Given the description of an element on the screen output the (x, y) to click on. 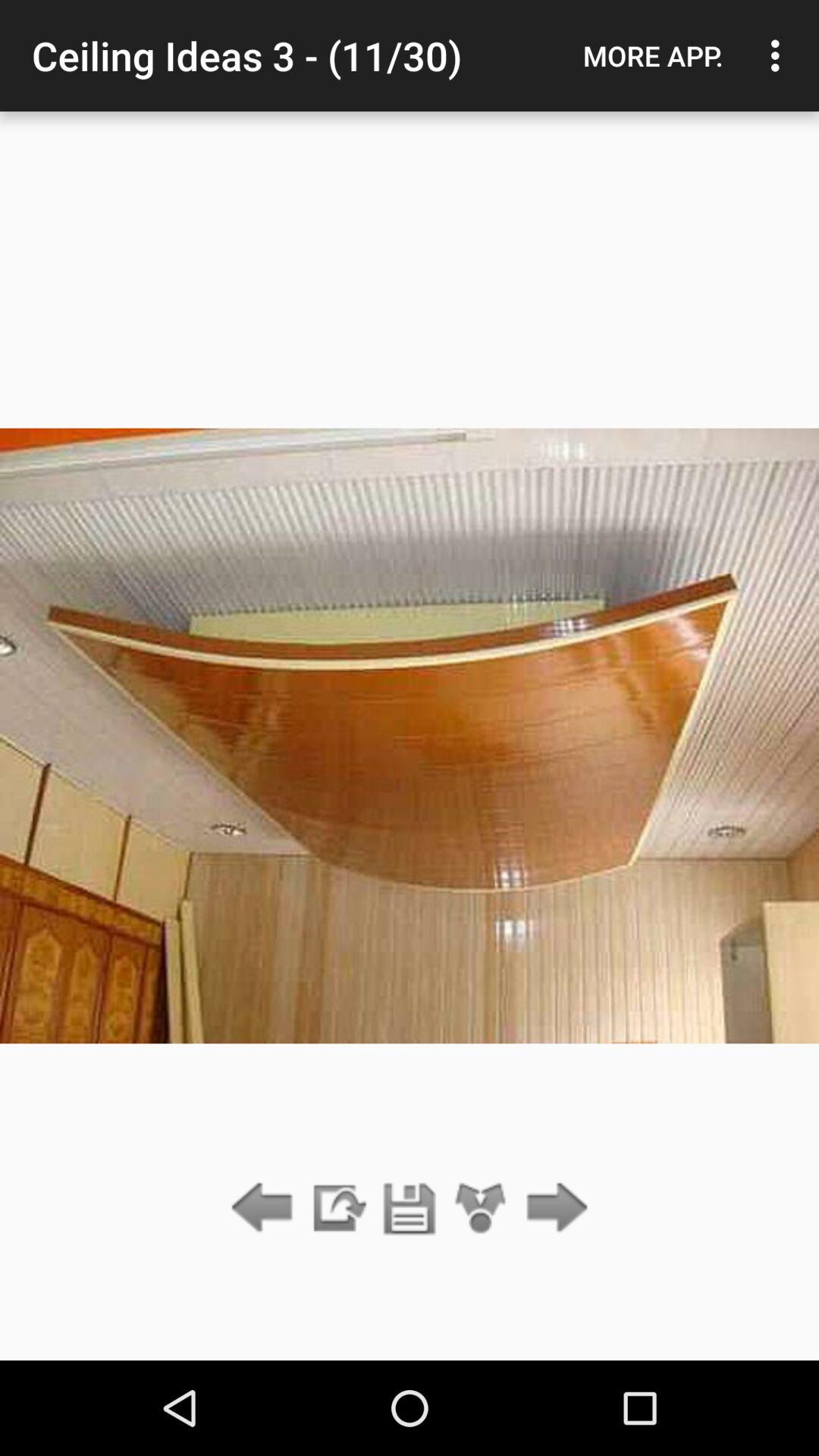
tap the item below ceiling ideas 3 app (337, 1208)
